Given the description of an element on the screen output the (x, y) to click on. 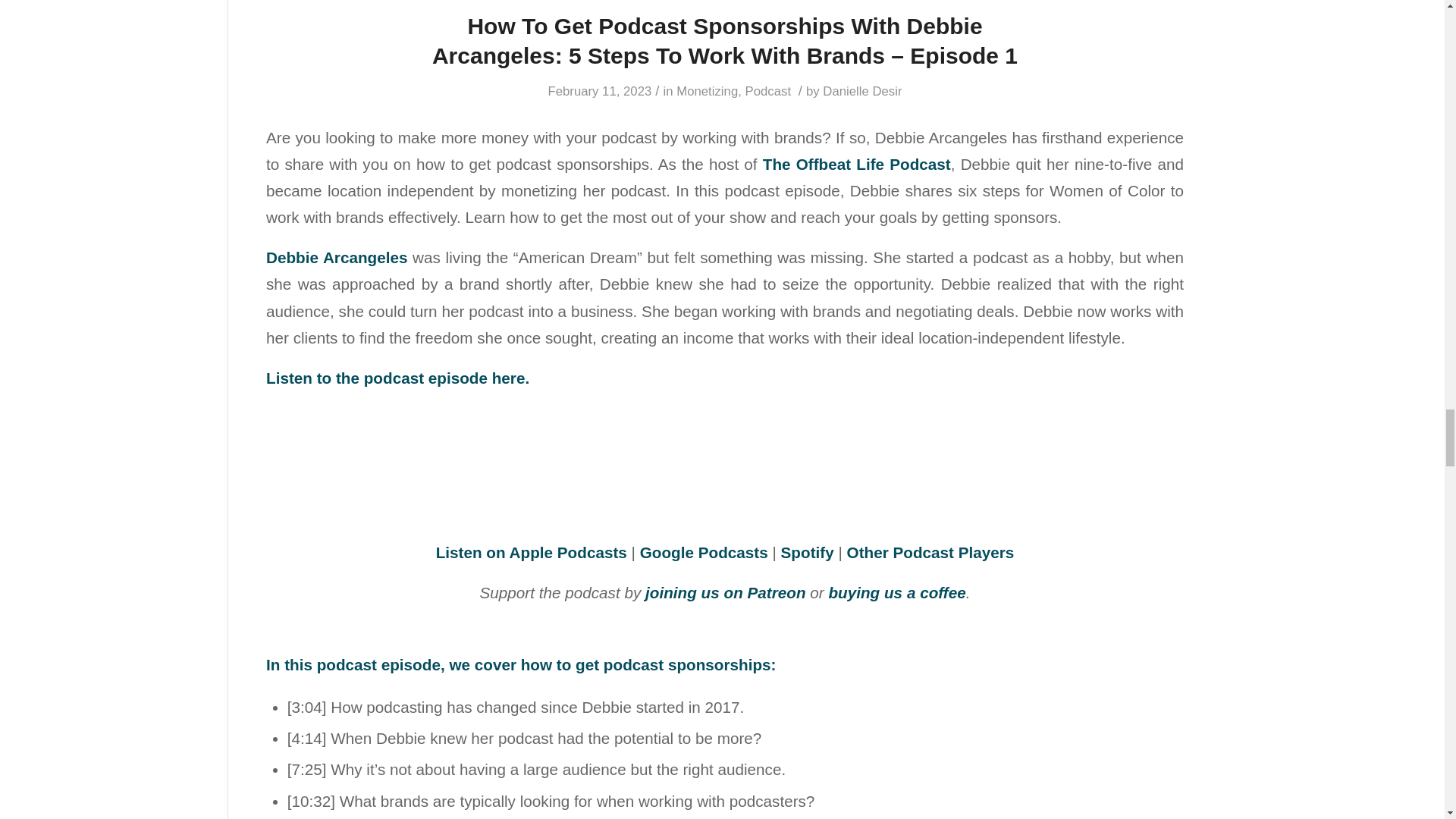
Posts by Danielle Desir (861, 91)
